Given the description of an element on the screen output the (x, y) to click on. 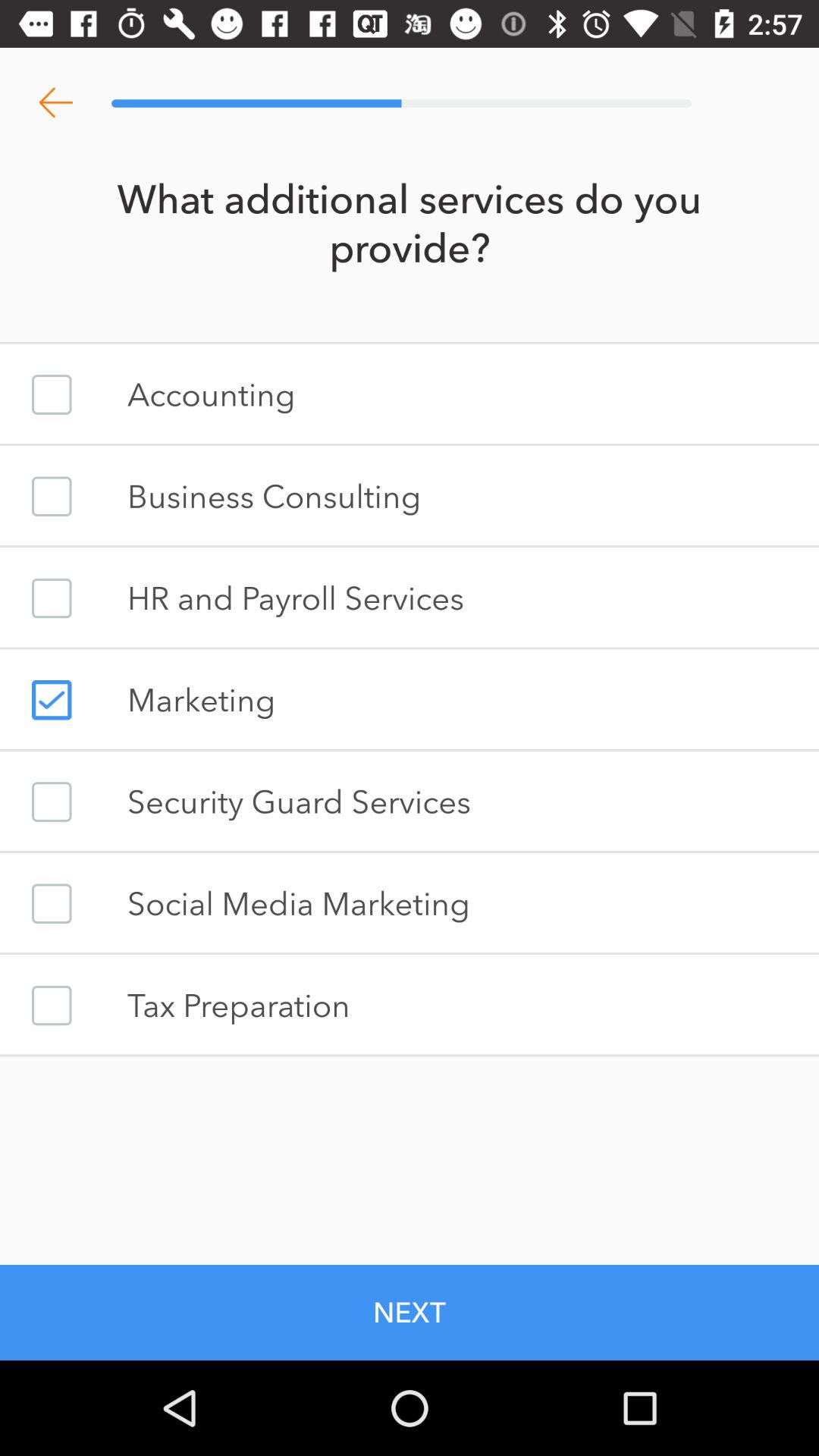
select social media marketing (51, 903)
